Given the description of an element on the screen output the (x, y) to click on. 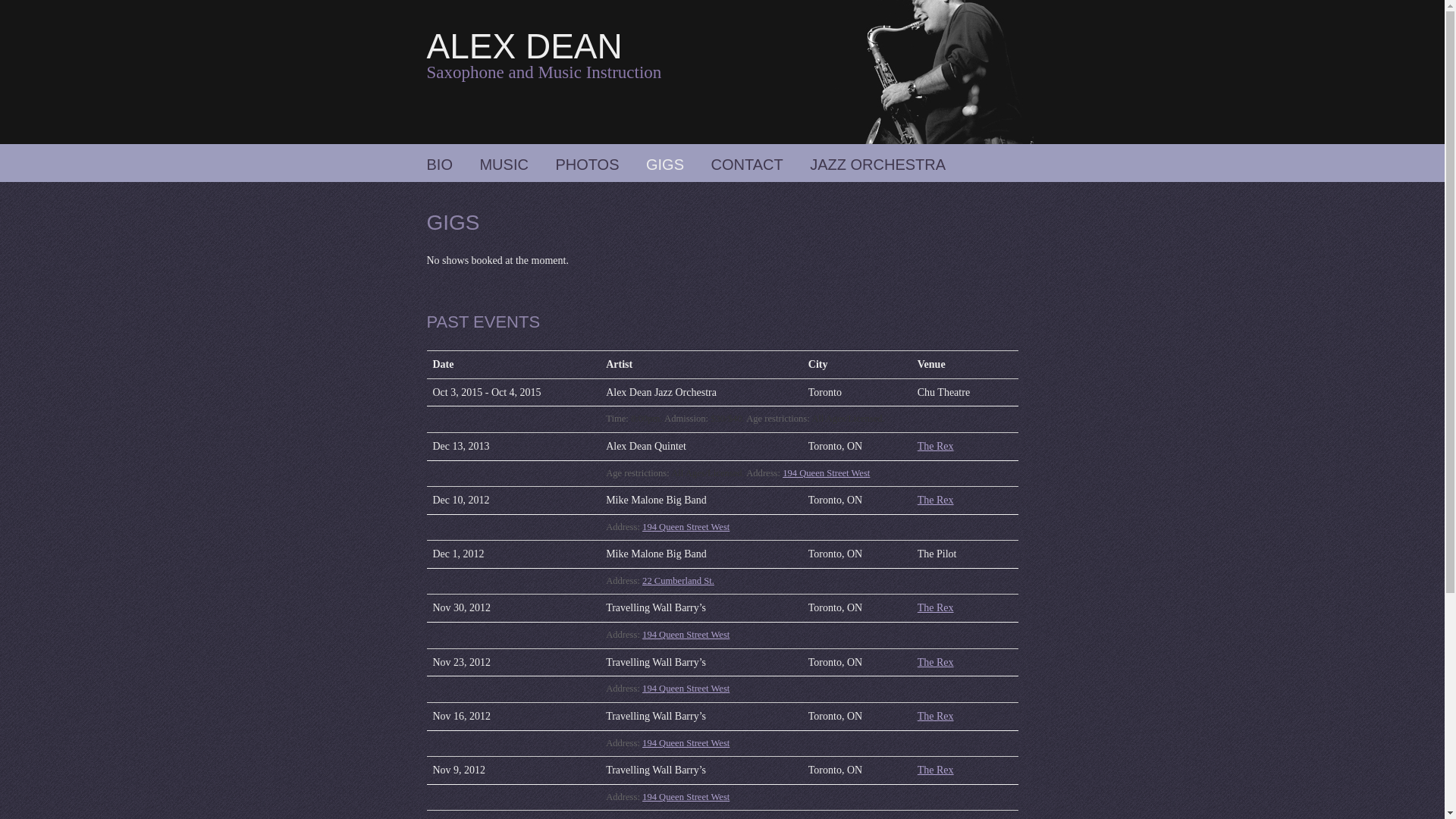
194 Queen Street West Element type: text (825, 472)
BIO Element type: text (438, 164)
194 Queen Street West Element type: text (685, 688)
194 Queen Street West Element type: text (685, 796)
The Rex Element type: text (935, 662)
GIGS Element type: text (665, 164)
The Rex Element type: text (935, 715)
194 Queen Street West Element type: text (685, 526)
The Rex Element type: text (935, 607)
194 Queen Street West Element type: text (685, 634)
ALEX DEAN Element type: text (523, 45)
22 Cumberland St. Element type: text (678, 580)
194 Queen Street West Element type: text (685, 742)
PHOTOS Element type: text (586, 164)
The Rex Element type: text (935, 769)
MUSIC Element type: text (503, 164)
The Rex Element type: text (935, 445)
JAZZ ORCHESTRA Element type: text (877, 164)
The Rex Element type: text (935, 499)
CONTACT Element type: text (747, 164)
